Given the description of an element on the screen output the (x, y) to click on. 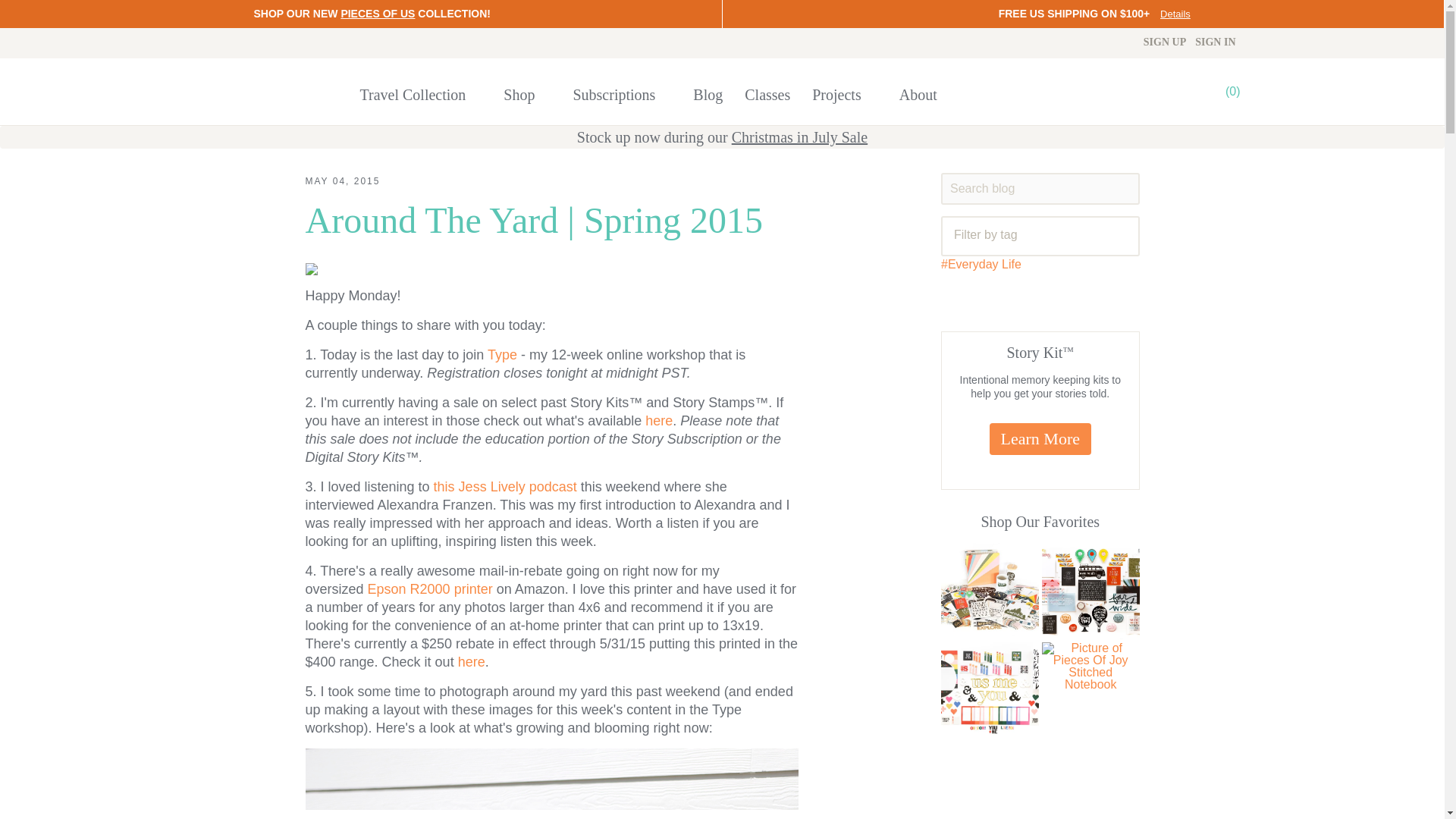
SIGN IN (1215, 41)
Ali Edwards (275, 87)
PIECES OF US (377, 13)
Shop (526, 91)
Details (1175, 13)
Travel Collection (421, 91)
SIGN UP (1164, 41)
